Given the description of an element on the screen output the (x, y) to click on. 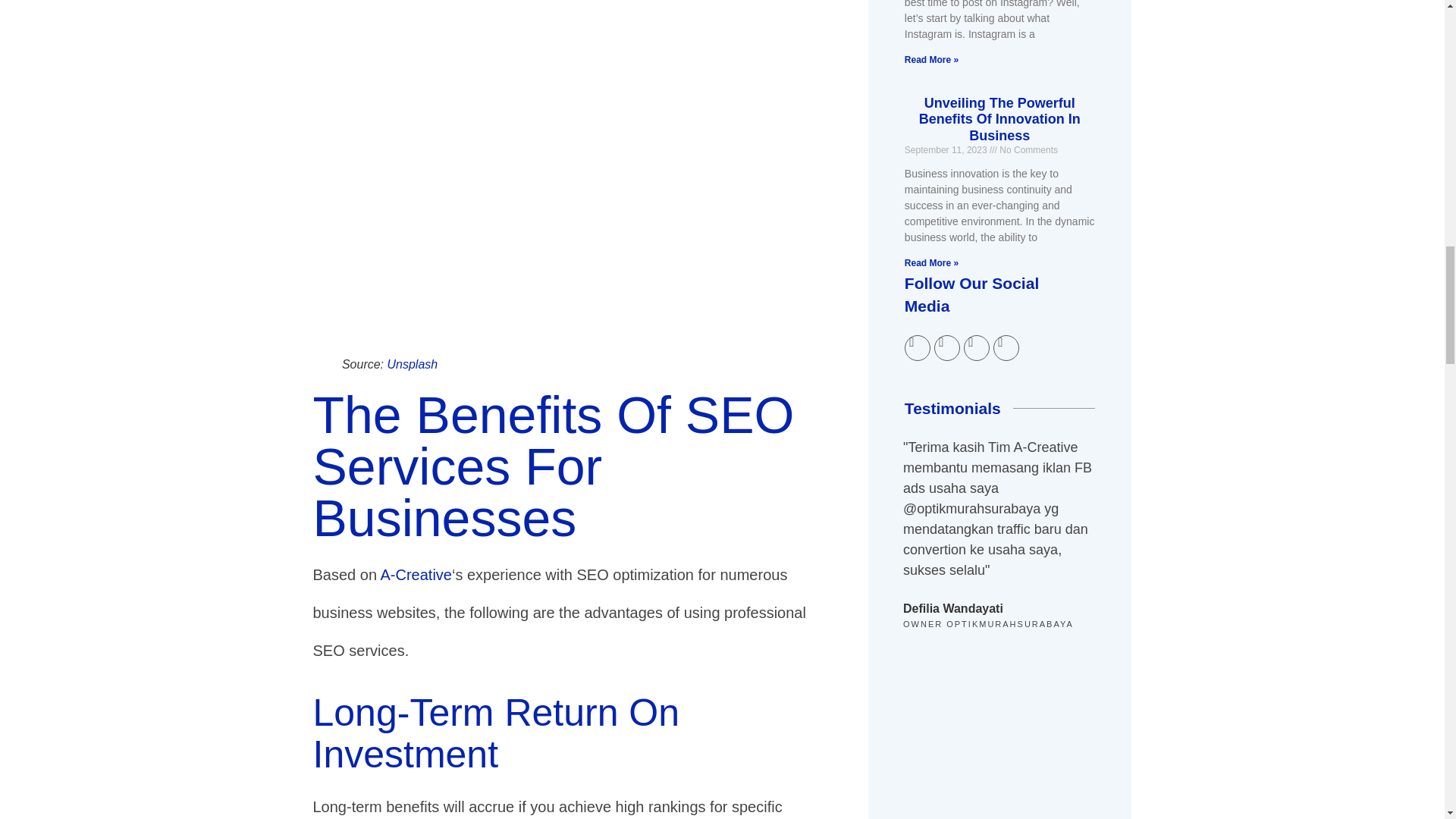
Follow Our Social Media (999, 302)
Testimonials (958, 417)
Unsplash (412, 364)
A-Creative (415, 574)
